Given the description of an element on the screen output the (x, y) to click on. 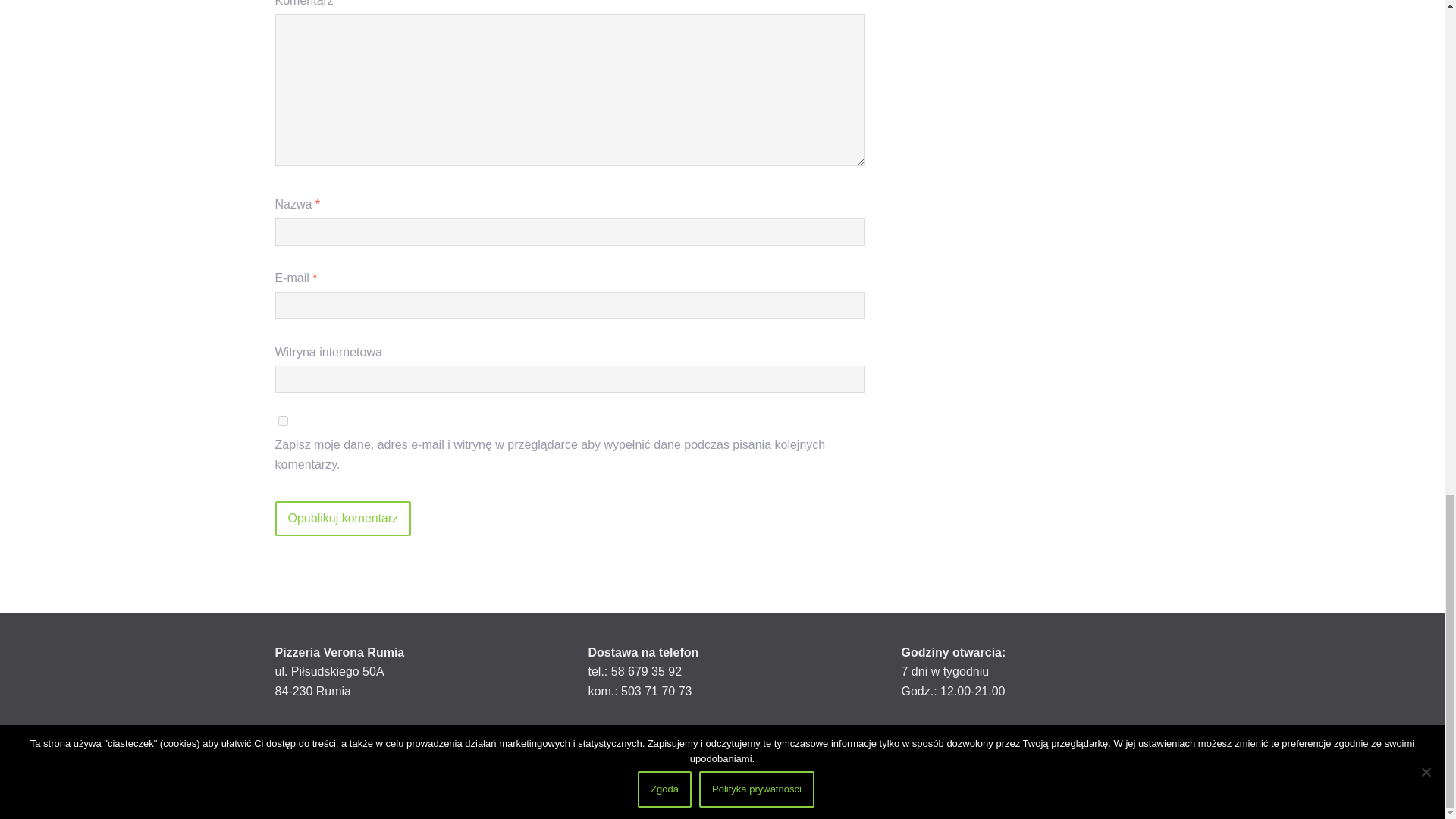
yes (282, 420)
Opublikuj komentarz (342, 518)
Opublikuj komentarz (342, 518)
